Given the description of an element on the screen output the (x, y) to click on. 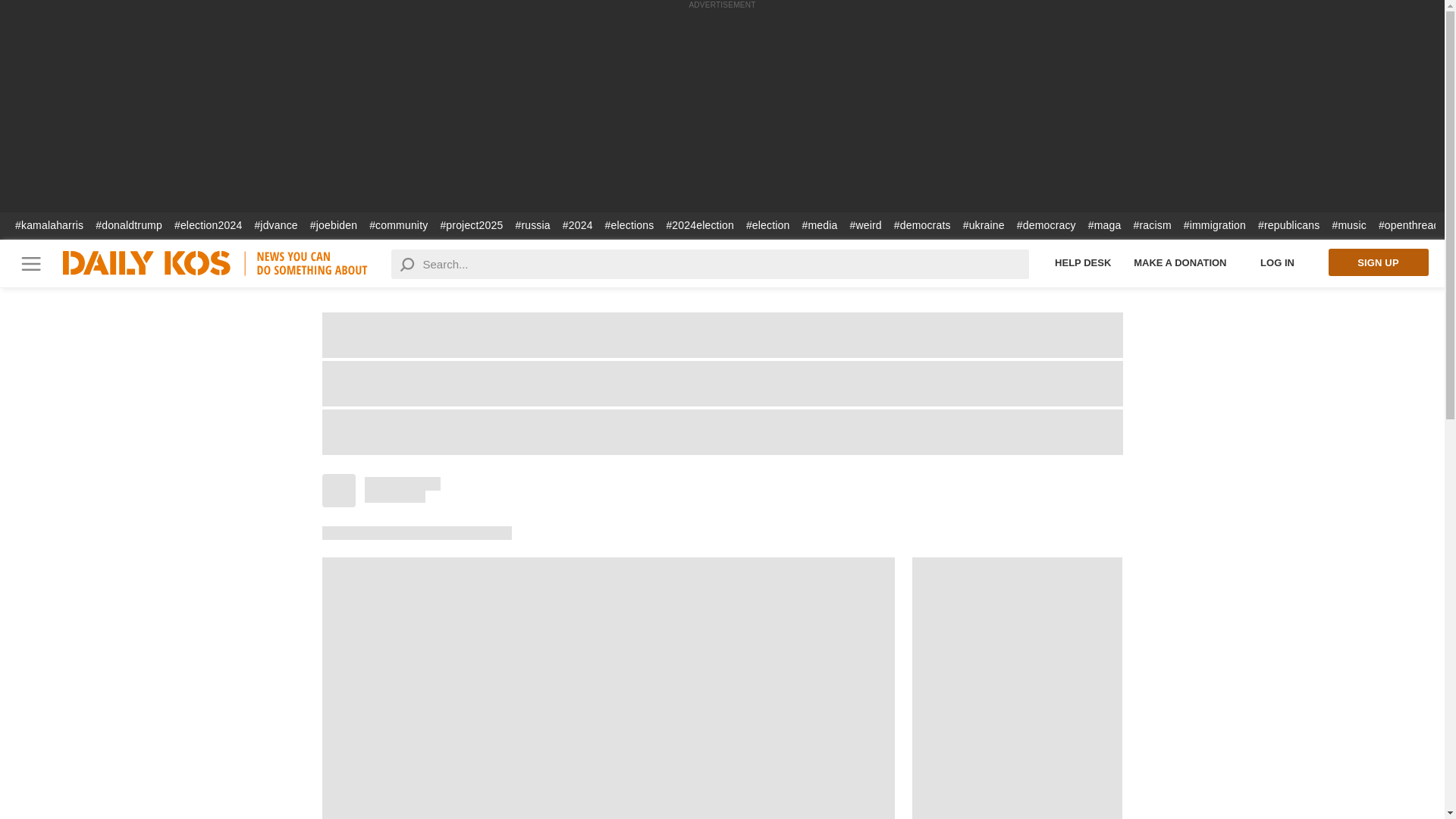
MAKE A DONATION (1179, 262)
Make a Donation (1179, 262)
Help Desk (1082, 262)
